Given the description of an element on the screen output the (x, y) to click on. 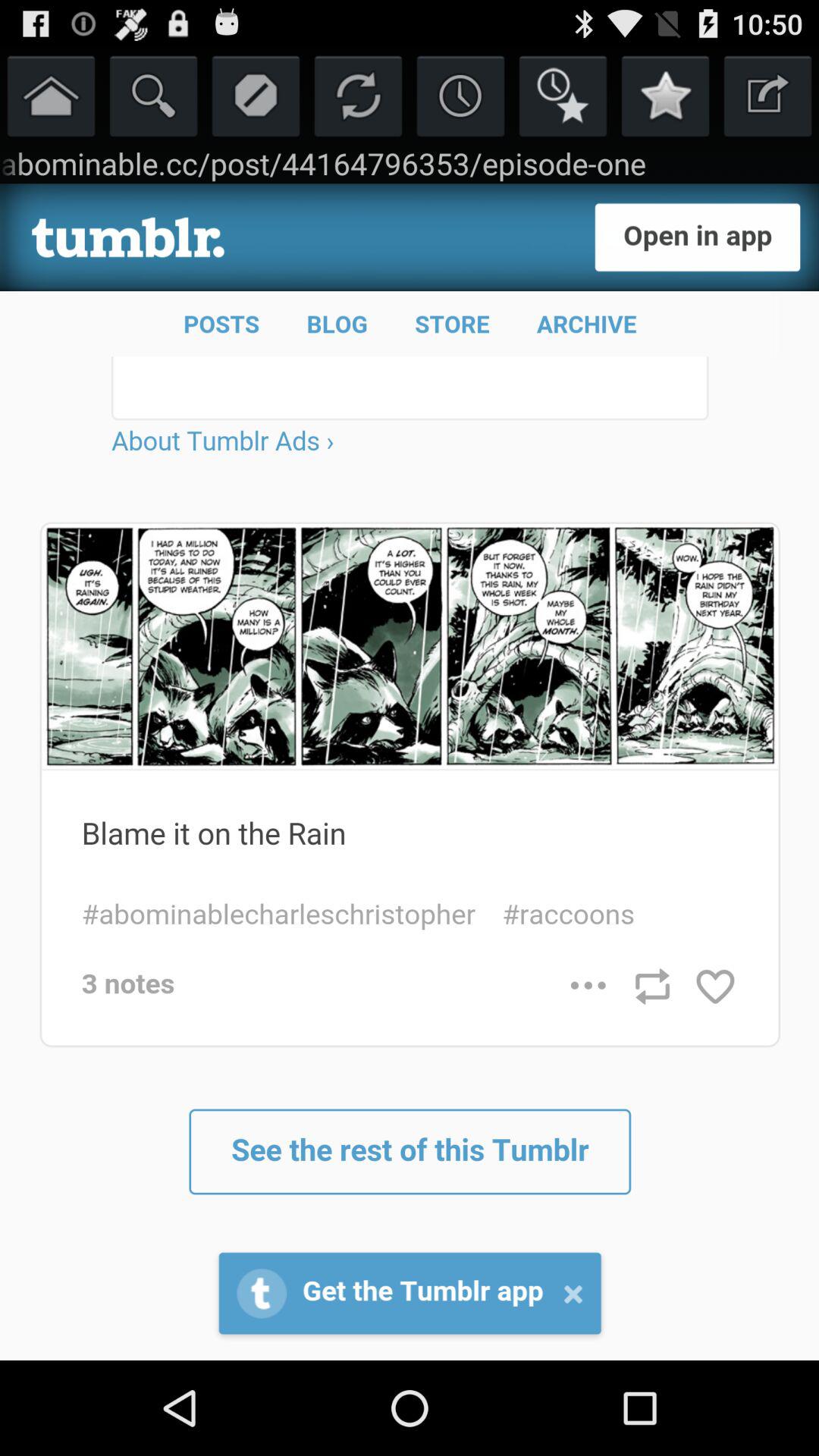
refresh button (358, 95)
